Given the description of an element on the screen output the (x, y) to click on. 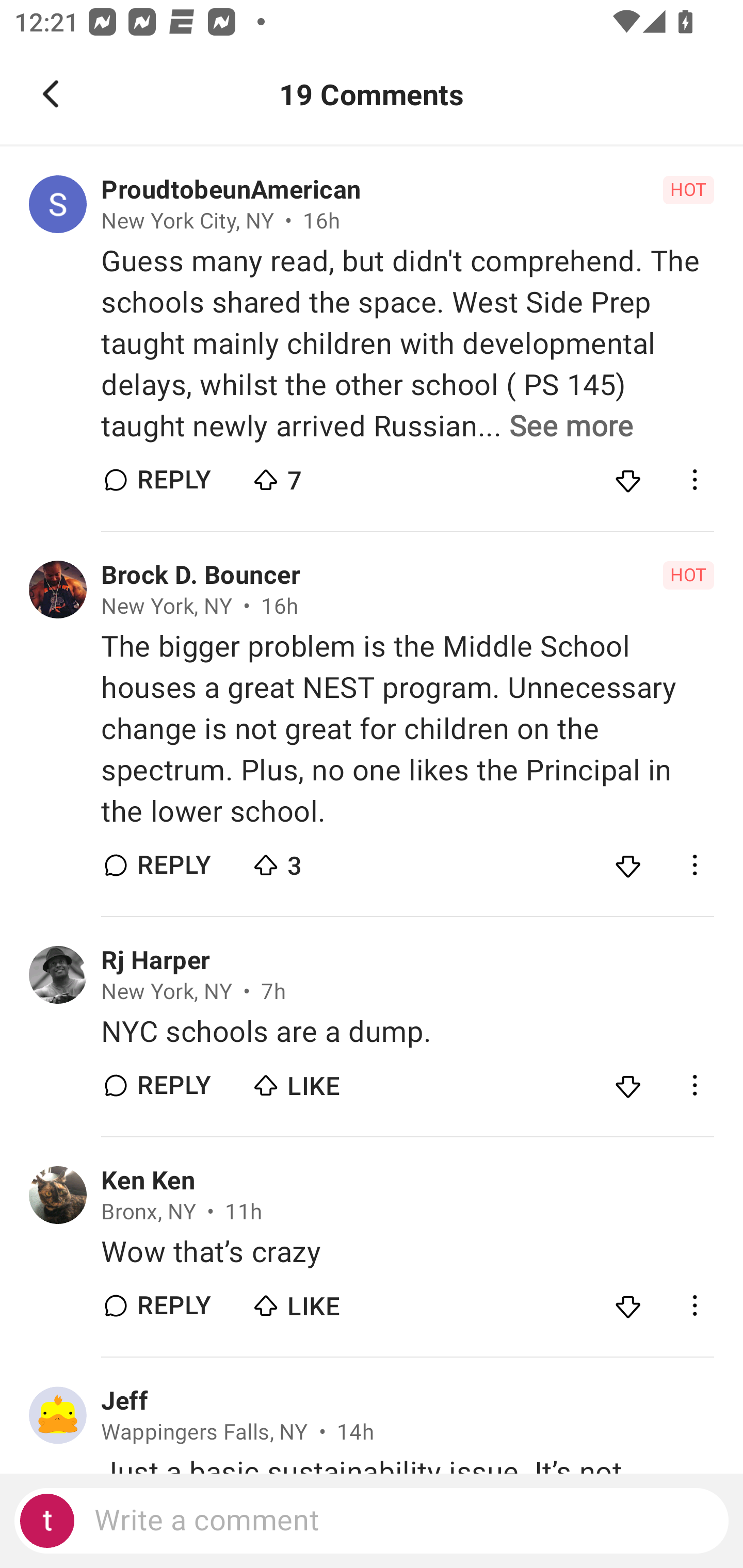
Navigate up (50, 93)
ProudtobeunAmerican (231, 190)
7 (320, 475)
REPLY (173, 480)
Brock D. Bouncer (200, 575)
3 (320, 860)
REPLY (173, 864)
Rj Harper (155, 960)
NYC schools are a dump. (407, 1031)
LIKE (320, 1080)
REPLY (173, 1085)
Ken Ken (148, 1180)
Wow that’s crazy (407, 1252)
LIKE (320, 1301)
REPLY (173, 1305)
Jeff (124, 1400)
Write a comment (371, 1520)
